Given the description of an element on the screen output the (x, y) to click on. 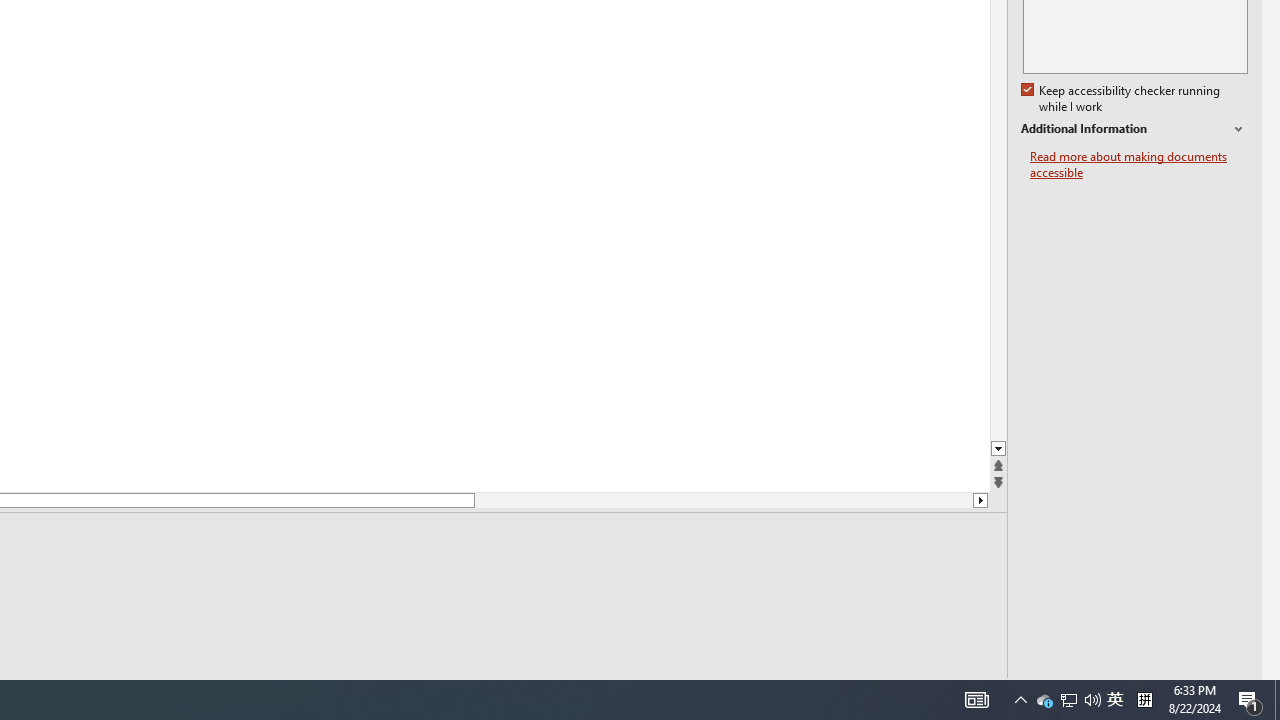
Menu On (892, 691)
Additional Information (1134, 129)
Read more about making documents accessible (1139, 164)
Slide Show Next On (924, 691)
Keep accessibility checker running while I work (1122, 99)
Slide Show Previous On (860, 691)
